Given the description of an element on the screen output the (x, y) to click on. 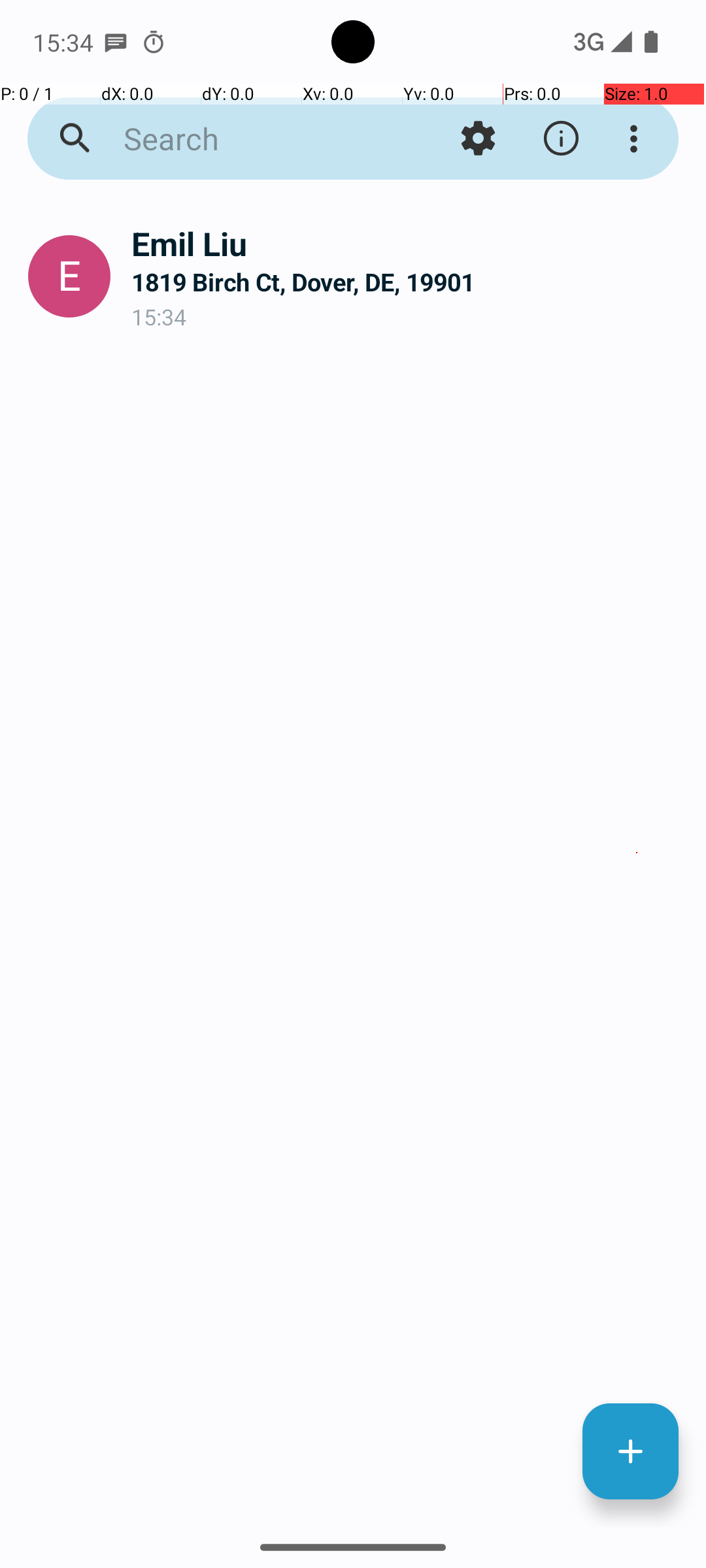
1819 Birch Ct, Dover, DE, 19901 Element type: android.widget.TextView (408, 281)
SMS Messenger notification: Emil Liu Element type: android.widget.ImageView (115, 41)
